Given the description of an element on the screen output the (x, y) to click on. 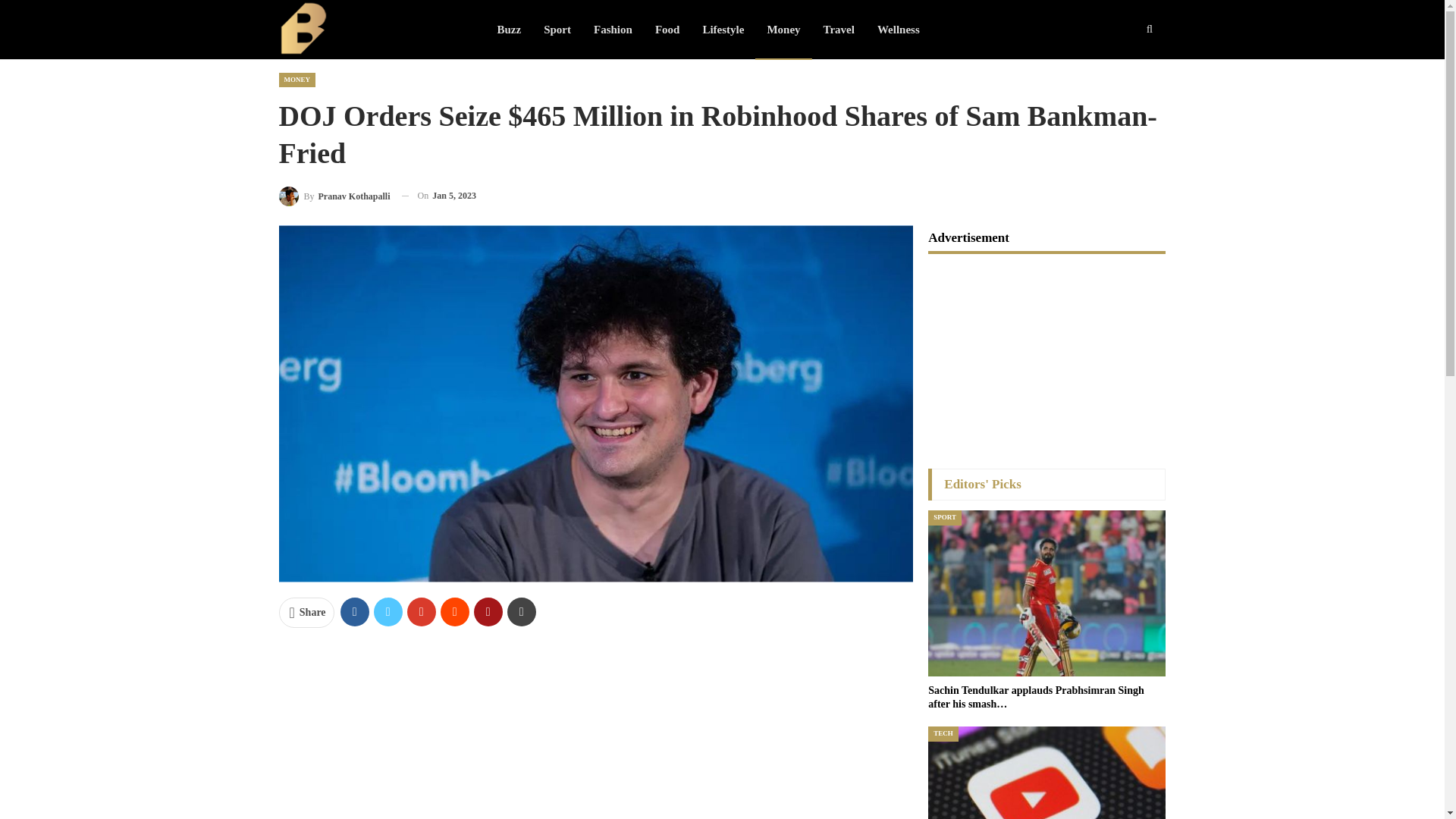
Advertisement (596, 730)
MONEY (297, 79)
Fashion (612, 29)
Wellness (898, 29)
Travel (839, 29)
By Pranav Kothapalli (334, 195)
Money (782, 29)
Browse Author Articles (334, 195)
Lifestyle (722, 29)
